Given the description of an element on the screen output the (x, y) to click on. 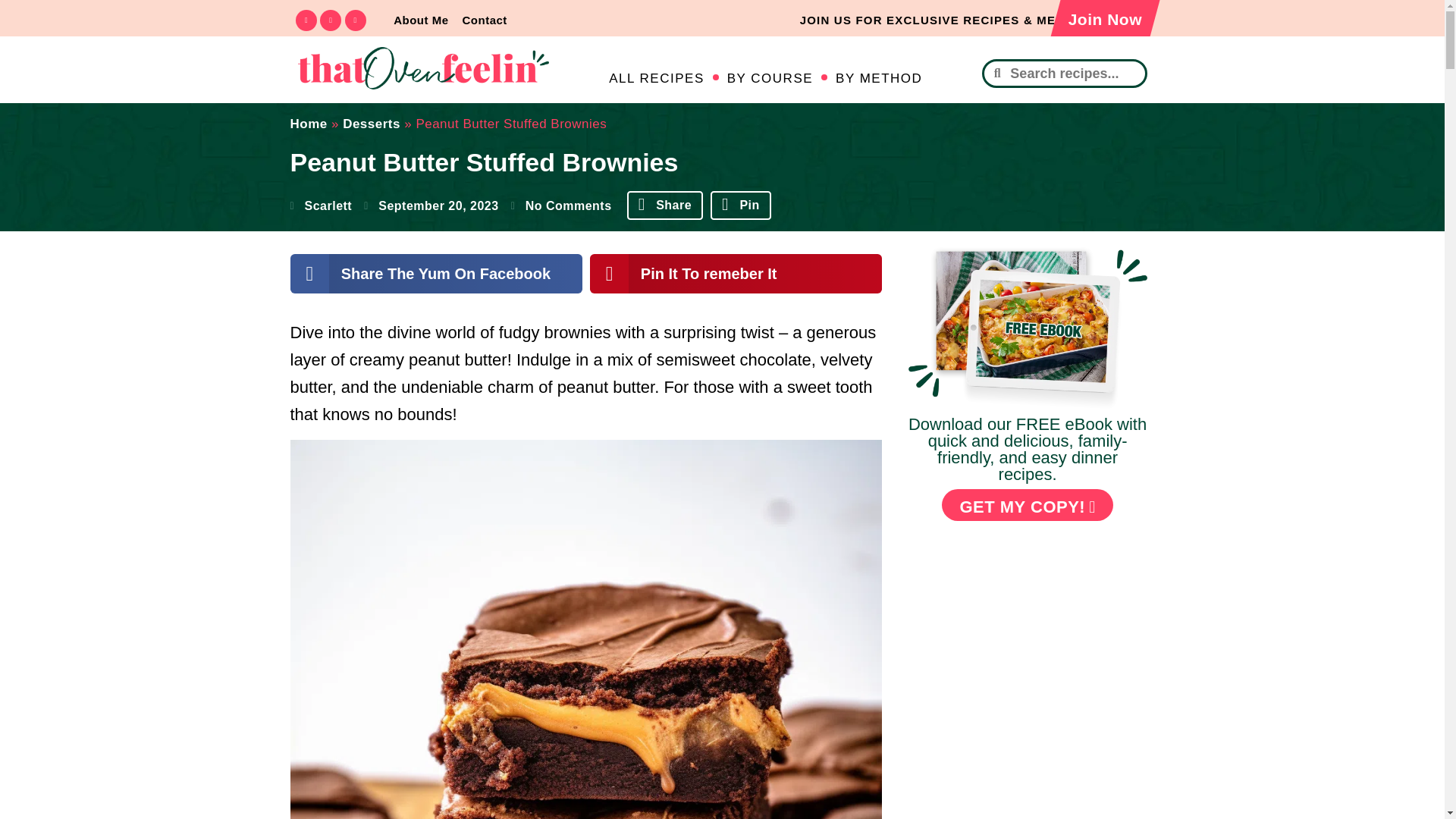
Join Now (1098, 21)
BY COURSE (769, 78)
Contact (483, 20)
About Me (420, 20)
BY METHOD (878, 78)
ALL RECIPES (655, 78)
